Given the description of an element on the screen output the (x, y) to click on. 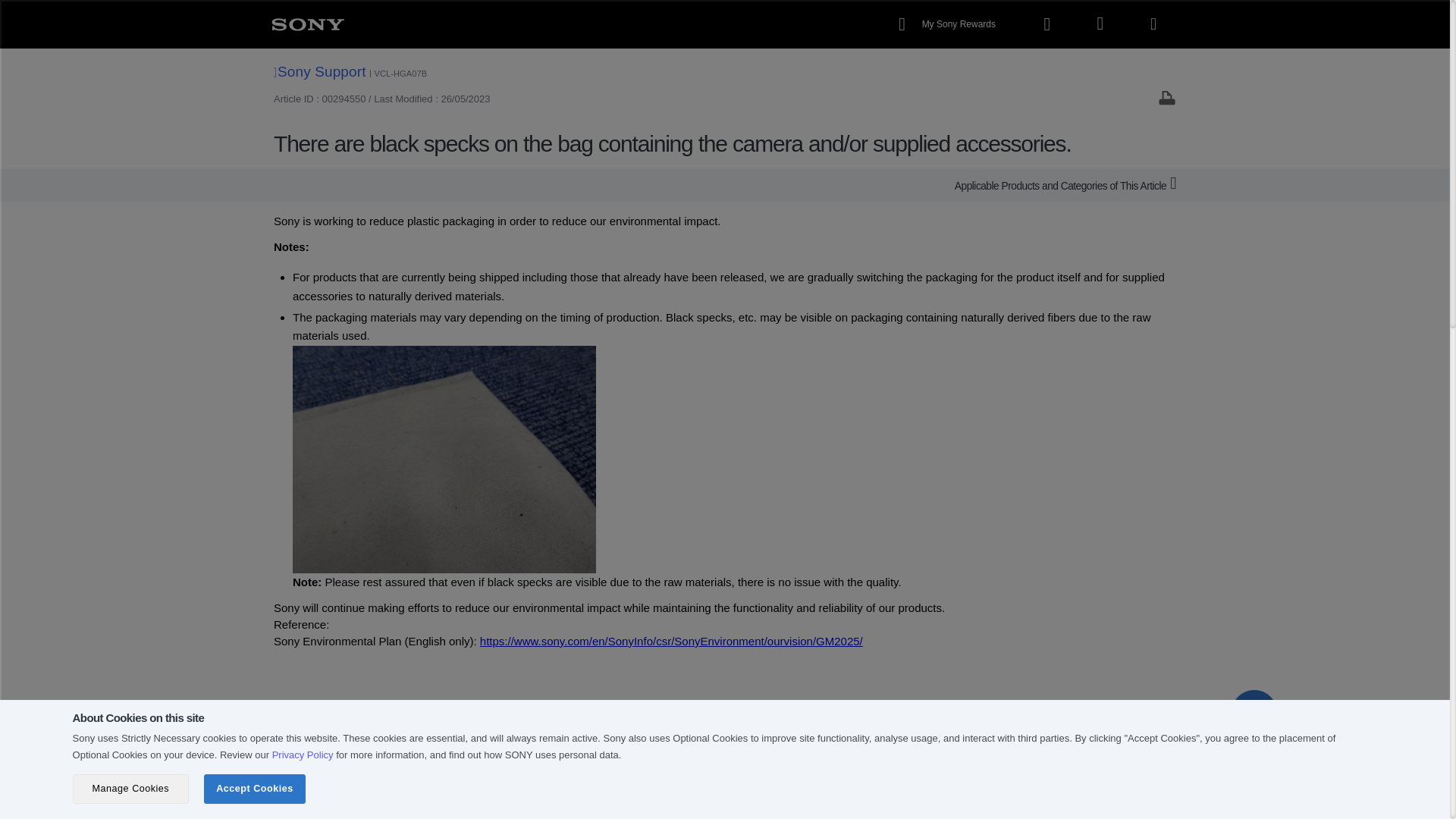
I am Sony support bot. (1253, 712)
Print (1166, 97)
My Sony Rewards (948, 24)
